Given the description of an element on the screen output the (x, y) to click on. 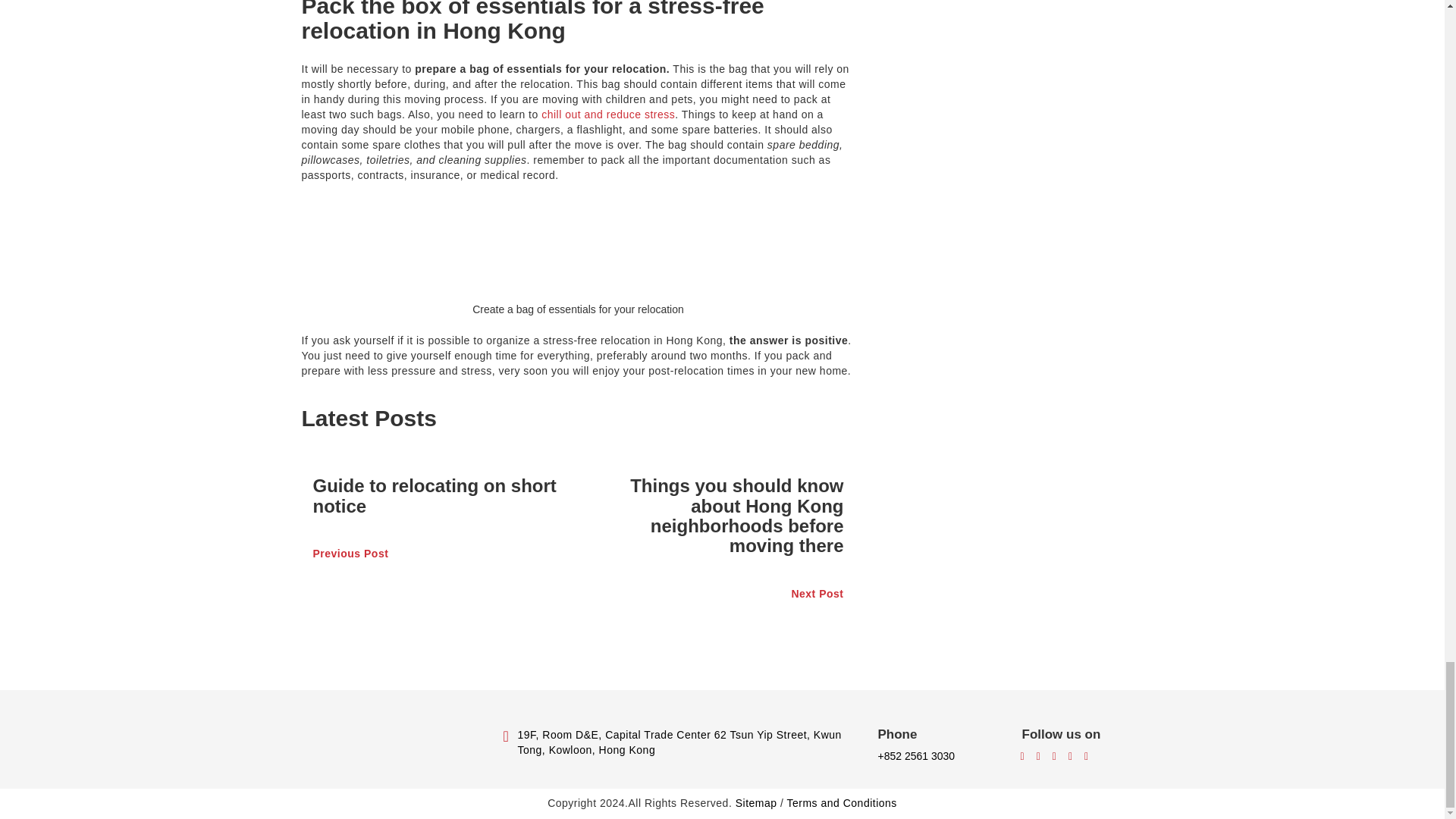
Next Post (716, 594)
chill out and reduce stress (608, 114)
Previous Post (439, 554)
